Given the description of an element on the screen output the (x, y) to click on. 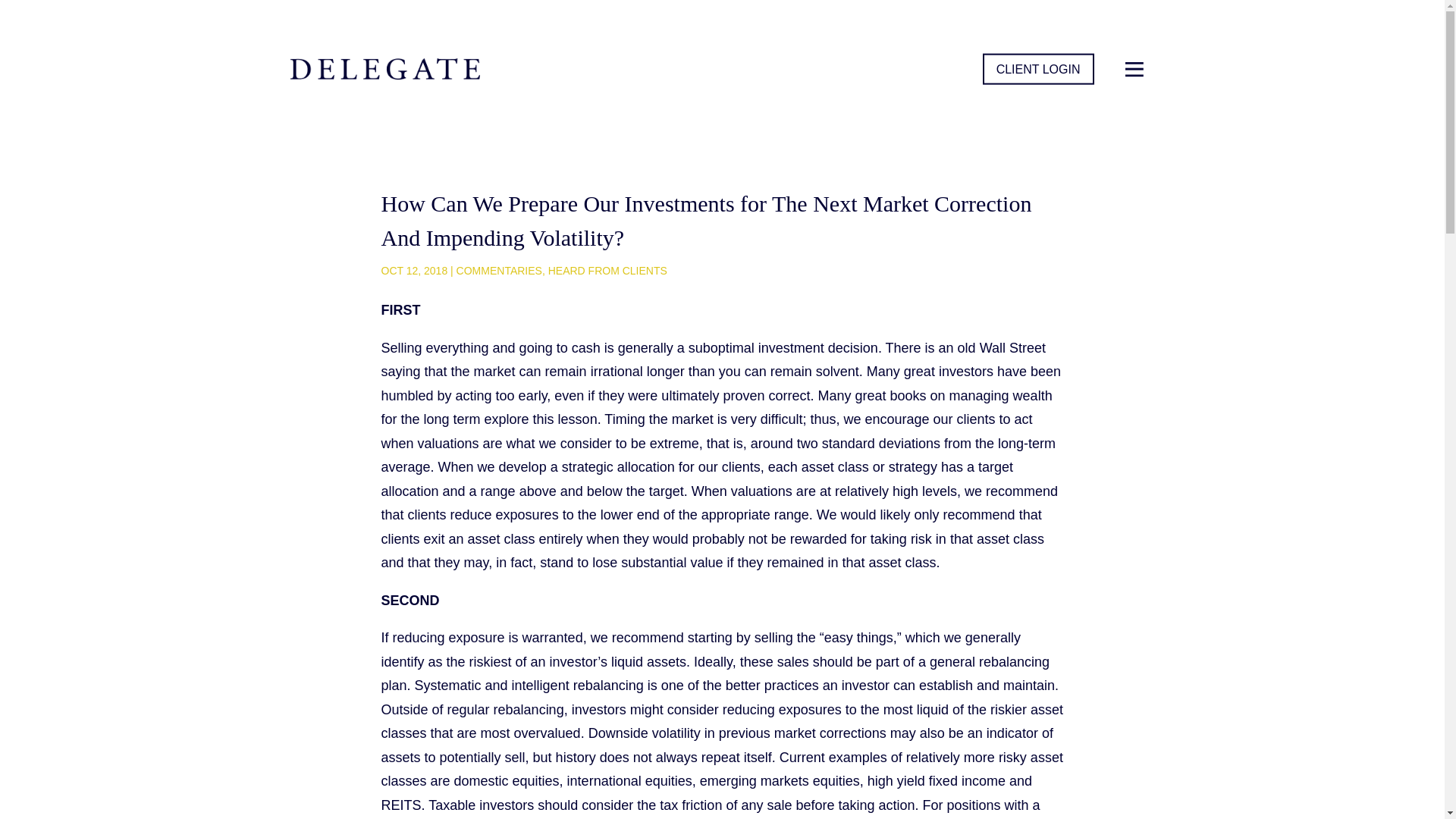
HEARD FROM CLIENTS (607, 270)
CLIENT LOGIN (1038, 69)
COMMENTARIES (499, 270)
